Given the description of an element on the screen output the (x, y) to click on. 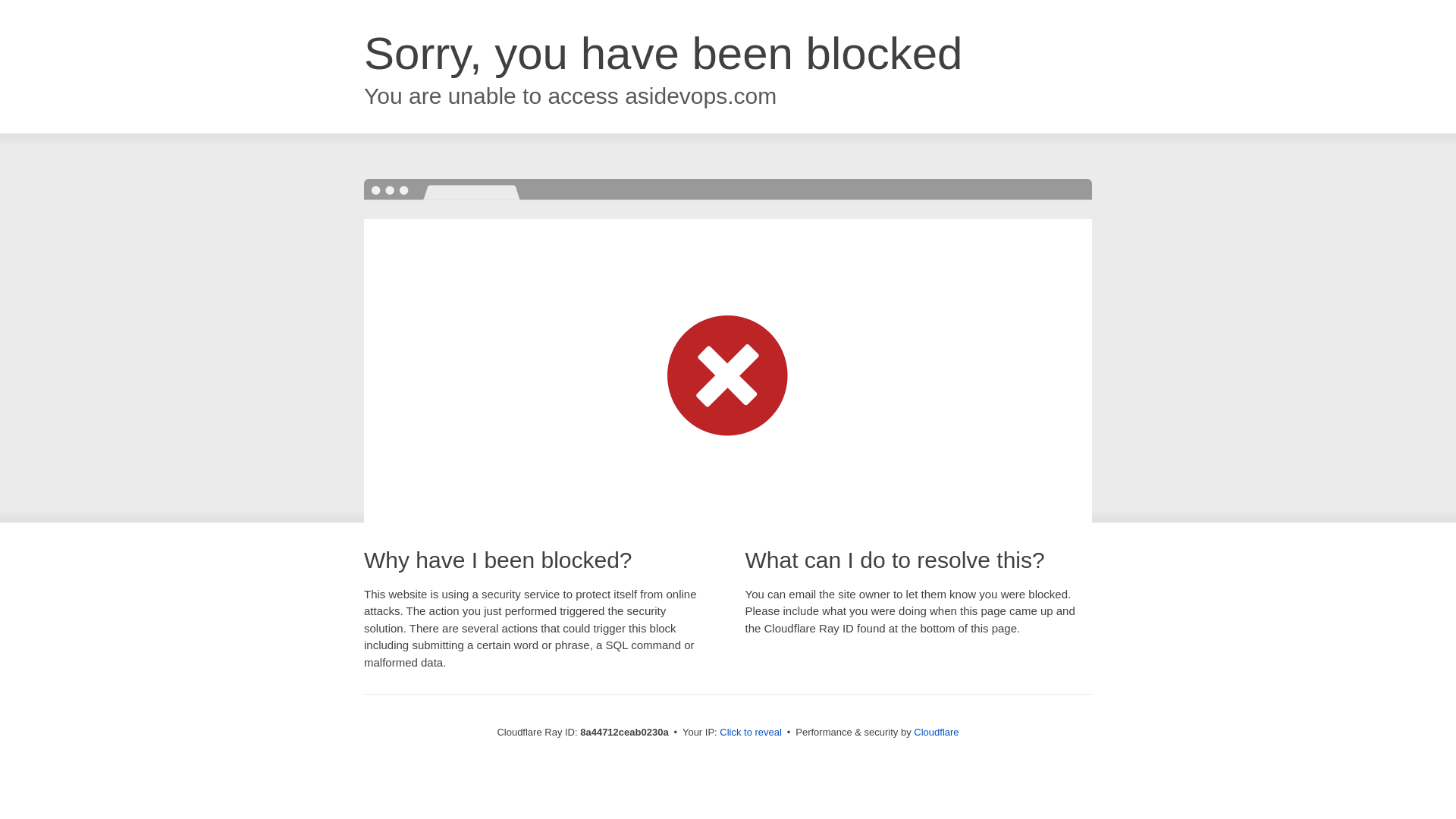
Click to reveal (750, 732)
Cloudflare (936, 731)
